Given the description of an element on the screen output the (x, y) to click on. 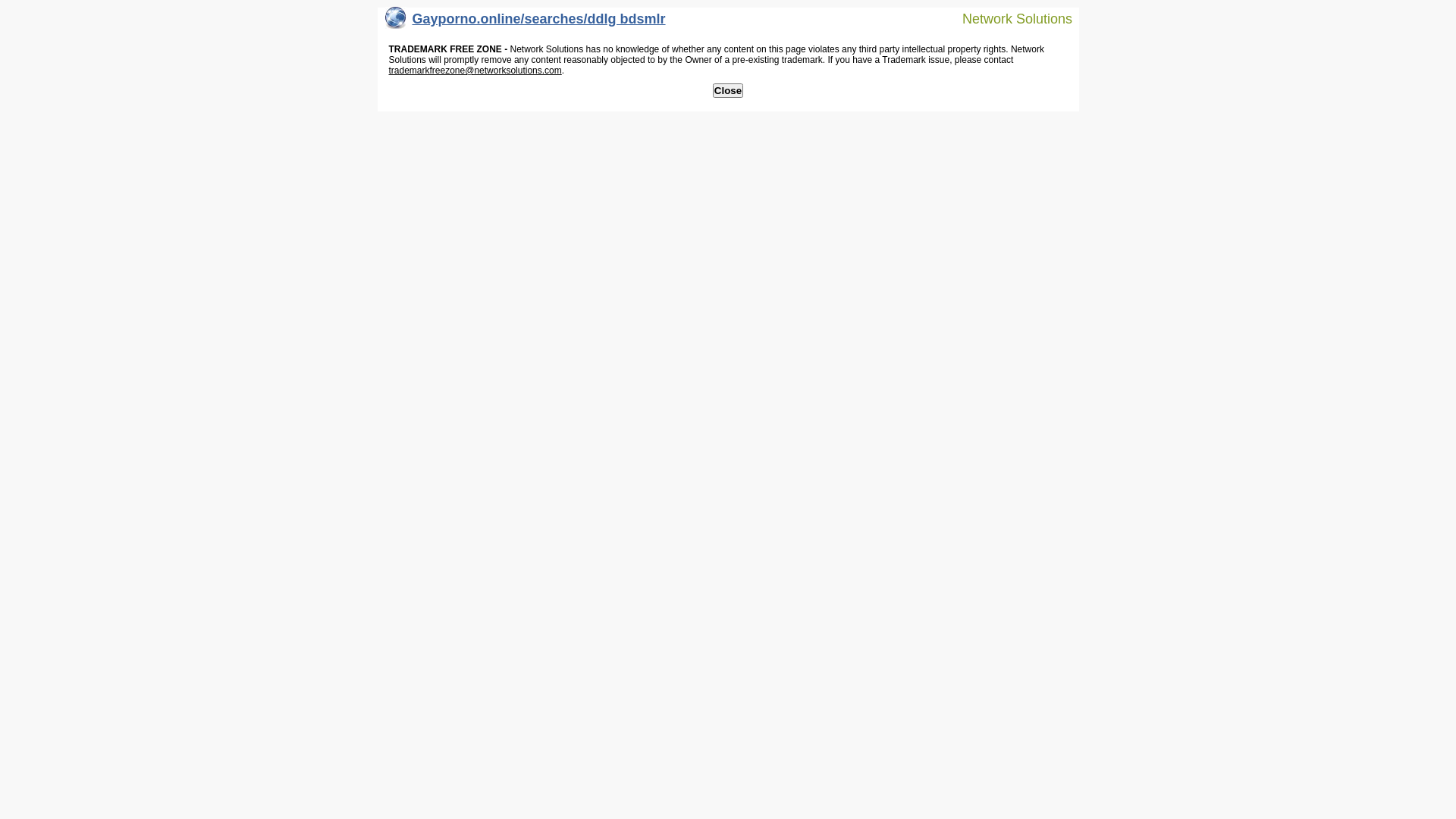
Close Element type: text (727, 90)
Gayporno.online/searches/ddlg bdsmlr Element type: text (525, 21)
trademarkfreezone@networksolutions.com Element type: text (474, 70)
Network Solutions Element type: text (1007, 17)
